Given the description of an element on the screen output the (x, y) to click on. 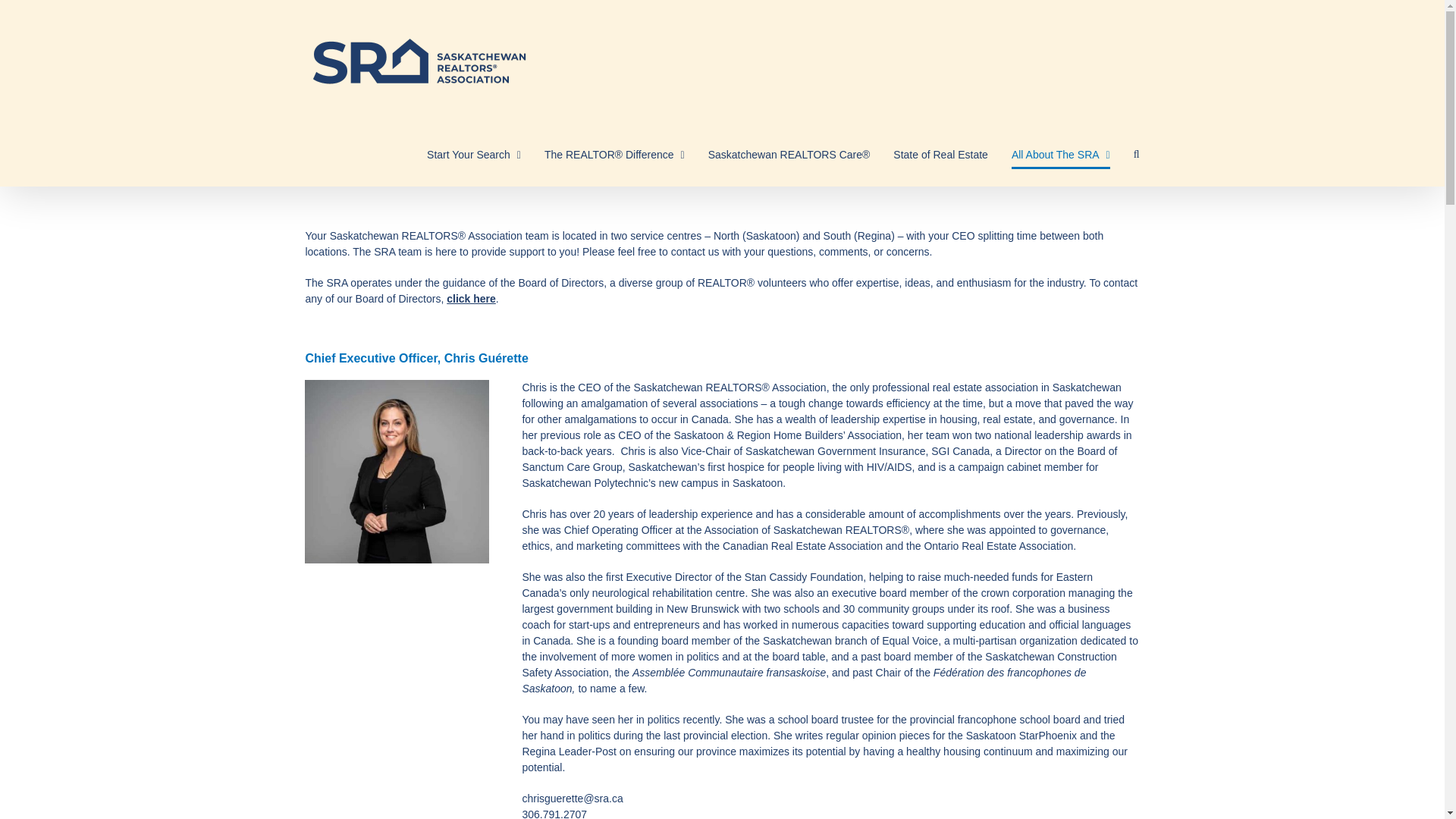
Start Your Search (473, 154)
All About The SRA (1060, 154)
State of Real Estate (940, 154)
CEO.Guerette (395, 471)
